Given the description of an element on the screen output the (x, y) to click on. 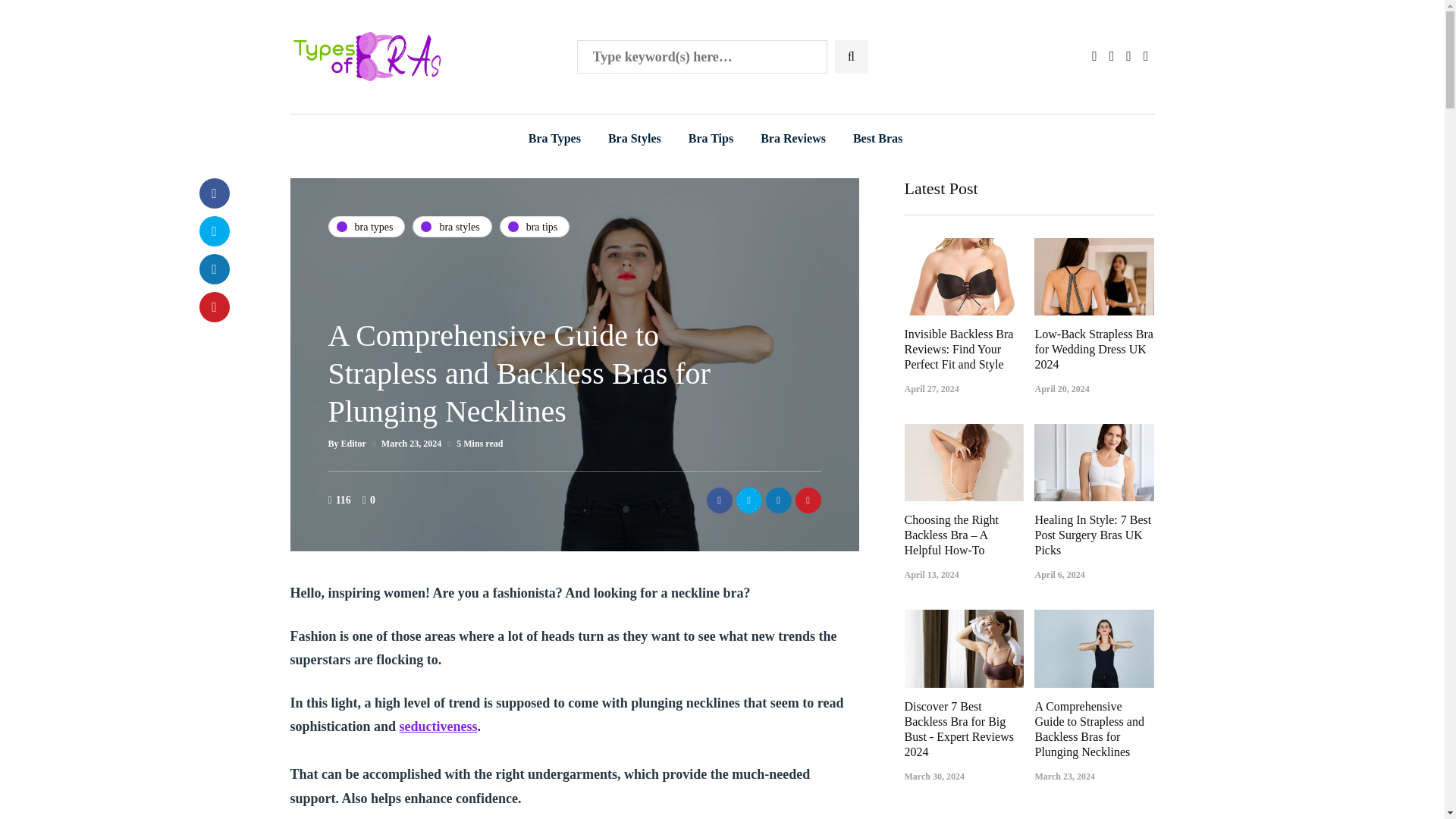
Bra Reviews (793, 138)
Best Bras (877, 138)
Pin this (807, 499)
Share with LinkedIn (213, 268)
Tweet this (213, 231)
Bra Styles (634, 138)
Share with Facebook (719, 499)
Search (41, 16)
Tweet this (748, 499)
Share with Facebook (213, 193)
Bra Tips (710, 138)
Pin this (213, 306)
Editor (353, 443)
bra tips (534, 226)
bra styles (452, 226)
